Given the description of an element on the screen output the (x, y) to click on. 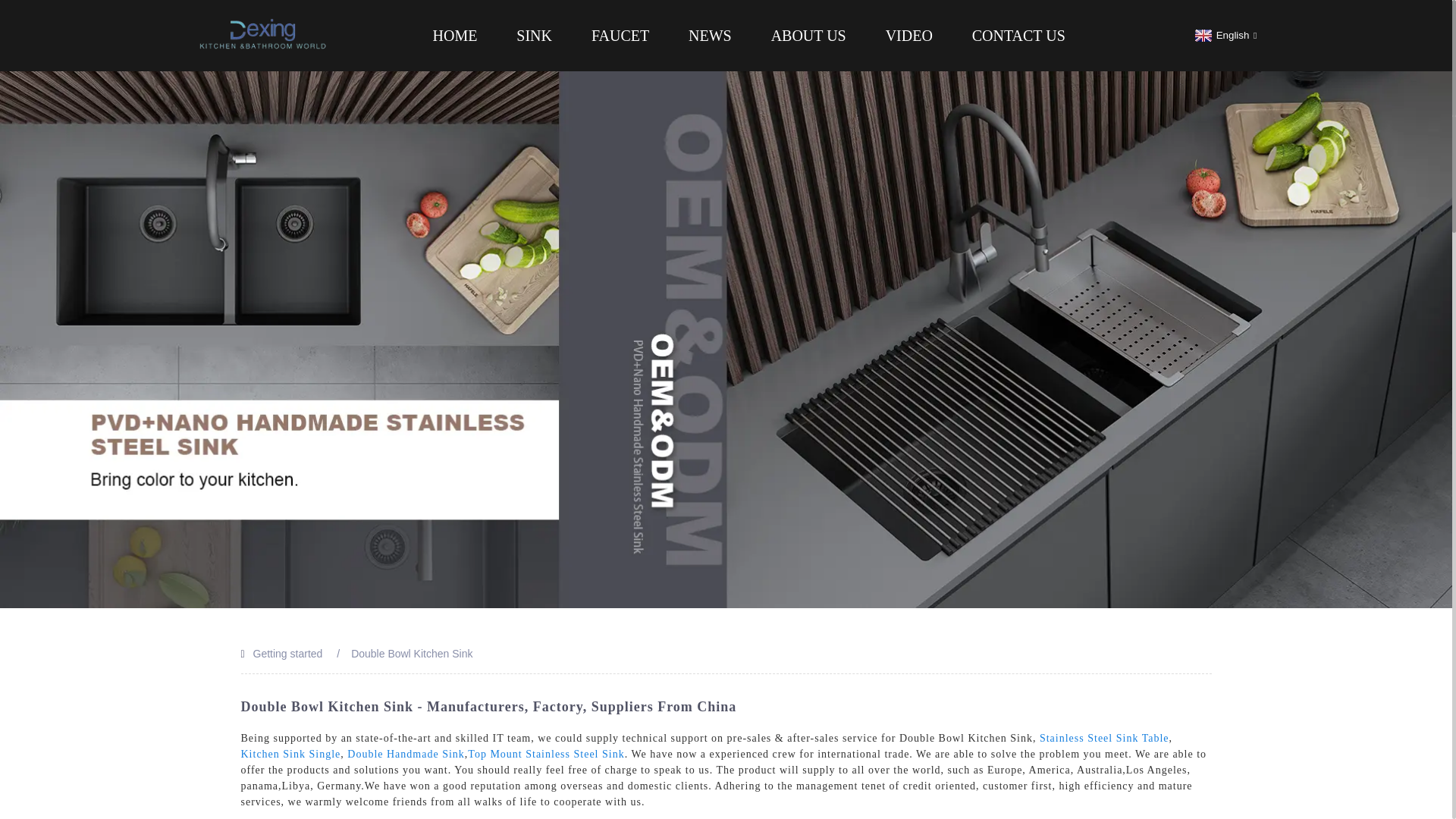
Kitchen Sink Single (290, 754)
Getting started (288, 653)
ABOUT US (808, 35)
Stainless Steel Sink Table (1104, 737)
Top Mount Stainless Steel Sink (545, 754)
CONTACT US (1018, 35)
Top Mount Stainless Steel Sink (545, 754)
English (1224, 34)
English (1224, 34)
Double Handmade Sink (405, 754)
Double Bowl Kitchen Sink (410, 653)
Stainless Steel Sink Table (1104, 737)
Kitchen Sink Single (290, 754)
Double Handmade Sink (405, 754)
